Given the description of an element on the screen output the (x, y) to click on. 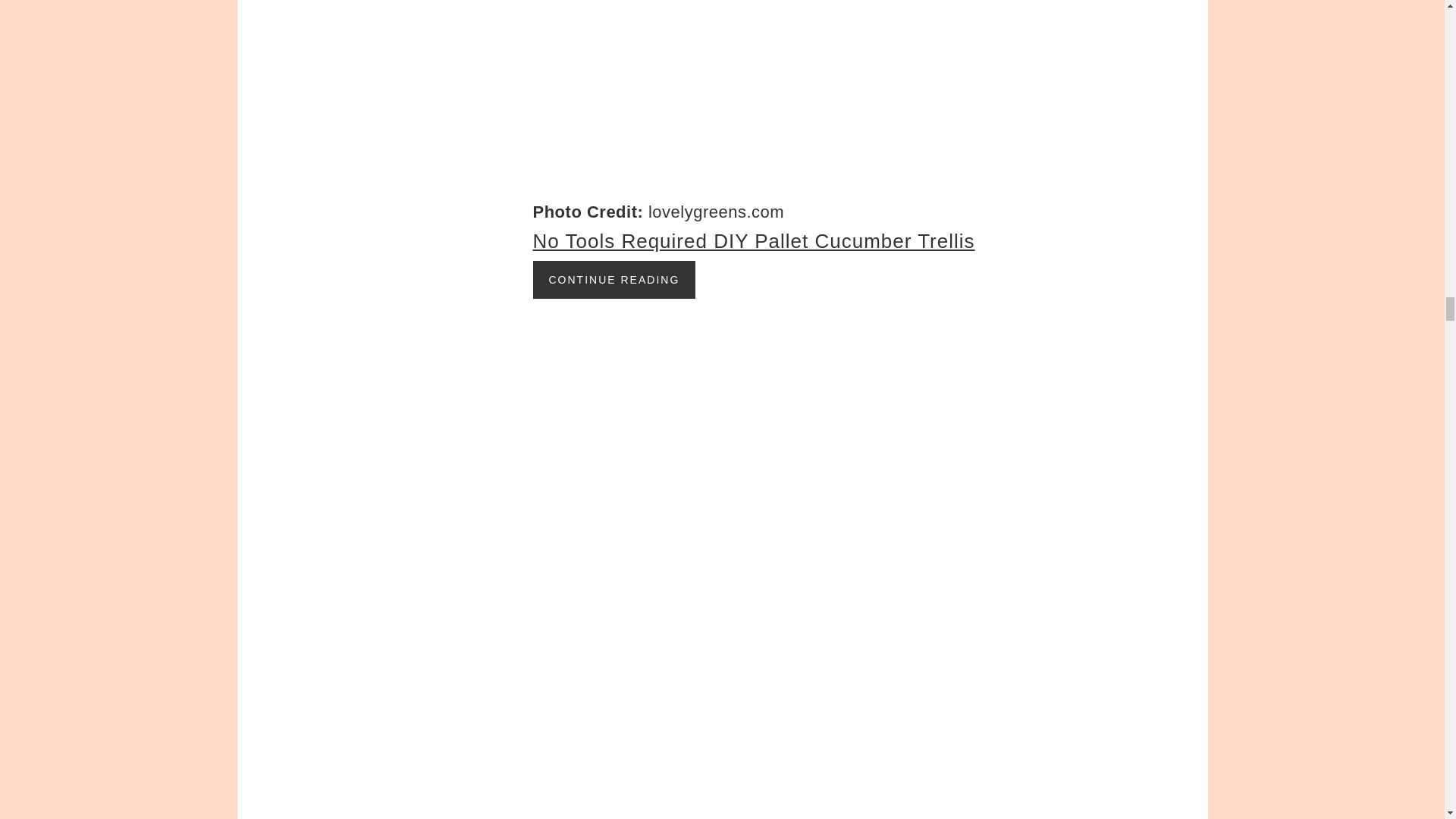
No Tools Required DIY Pallet Cucumber Trellis (753, 240)
